Given the description of an element on the screen output the (x, y) to click on. 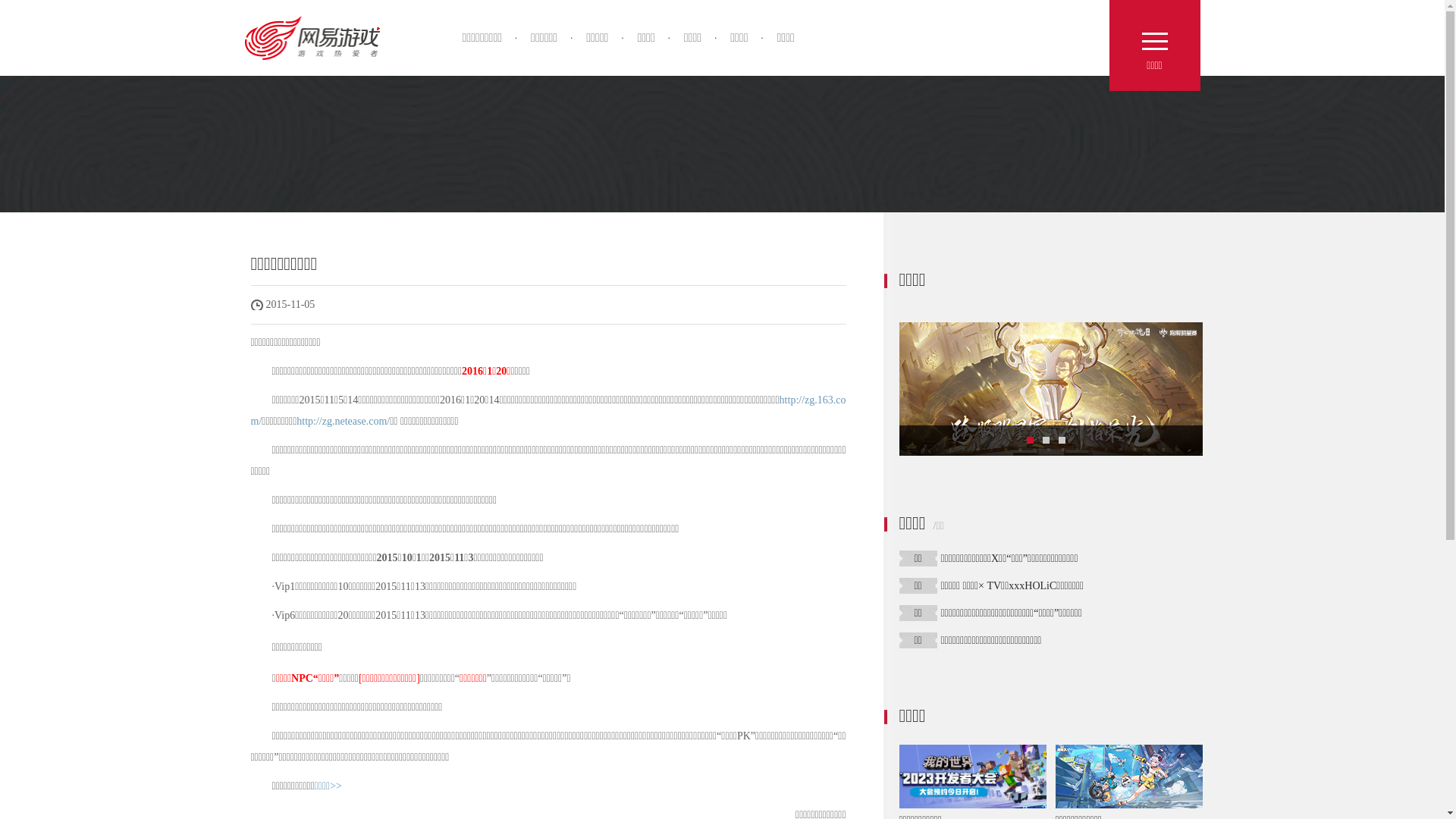
http://zg.163.com/ Element type: text (547, 410)
http://zg.netease.com/ Element type: text (342, 420)
